Given the description of an element on the screen output the (x, y) to click on. 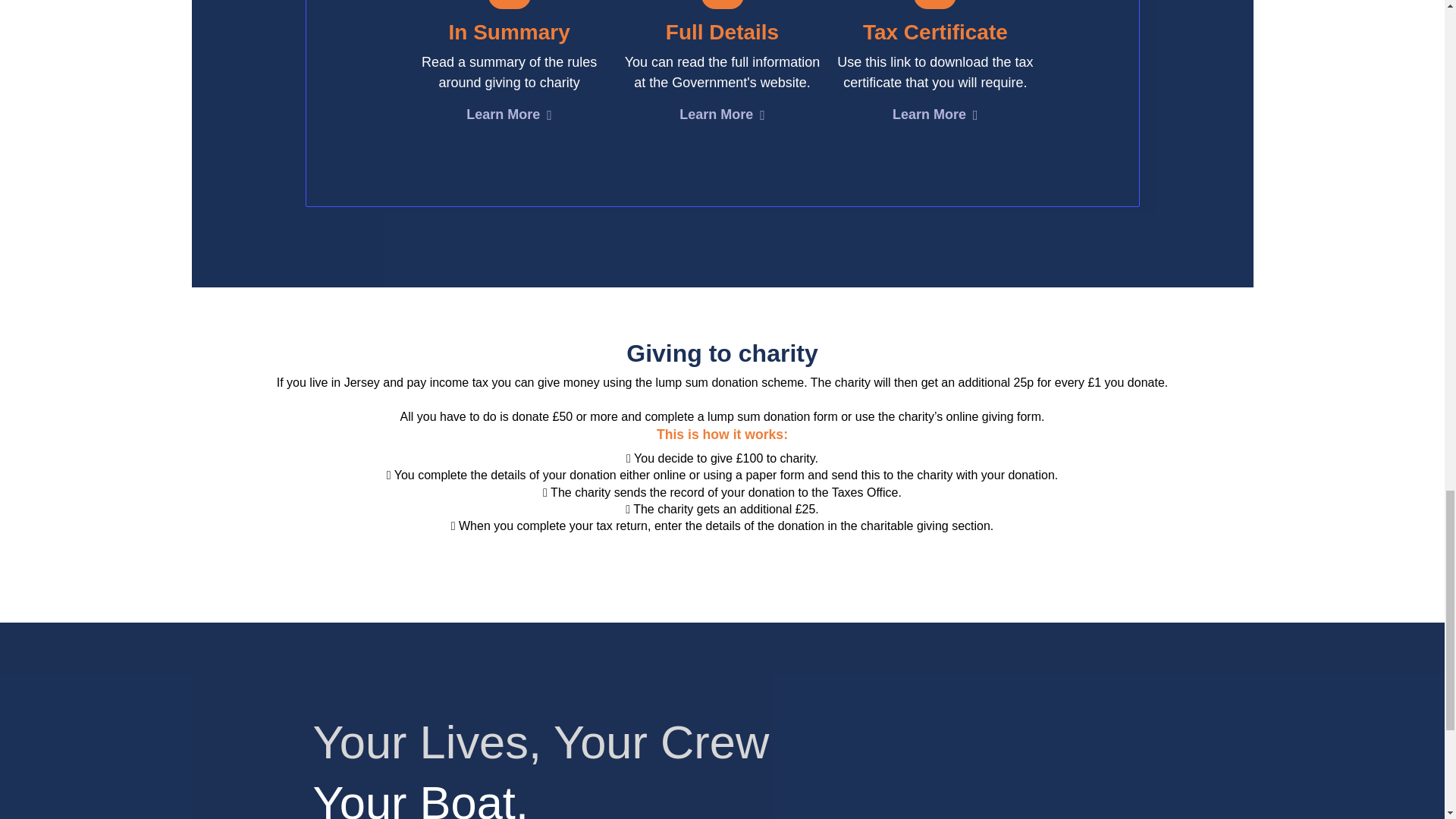
Learn More (722, 116)
Learn More (508, 116)
Learn More (935, 116)
